Given the description of an element on the screen output the (x, y) to click on. 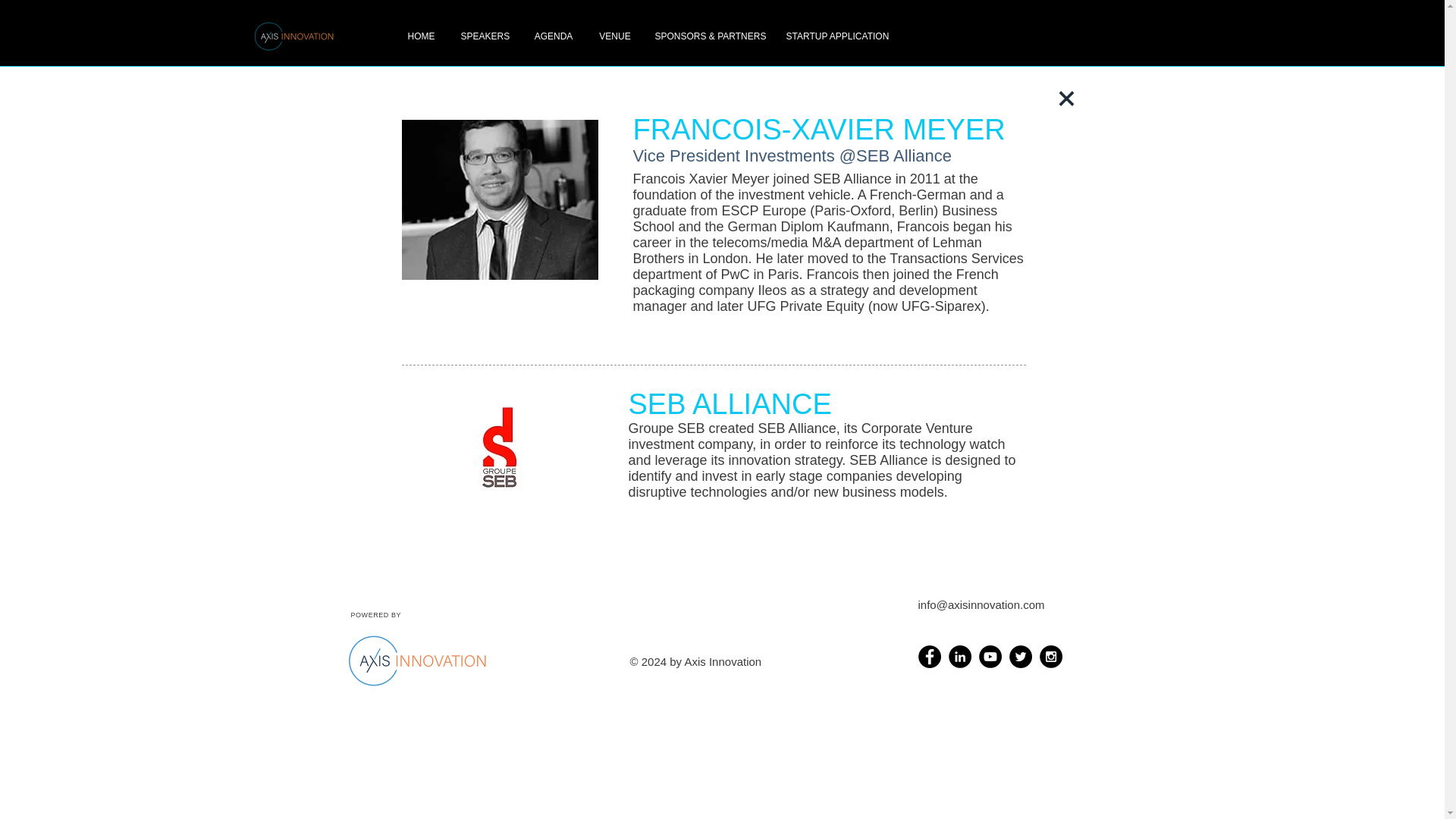
SPEAKERS (483, 36)
HOME (420, 36)
AGENDA (552, 36)
VENUE (614, 36)
STARTUP APPLICATION (836, 36)
